Given the description of an element on the screen output the (x, y) to click on. 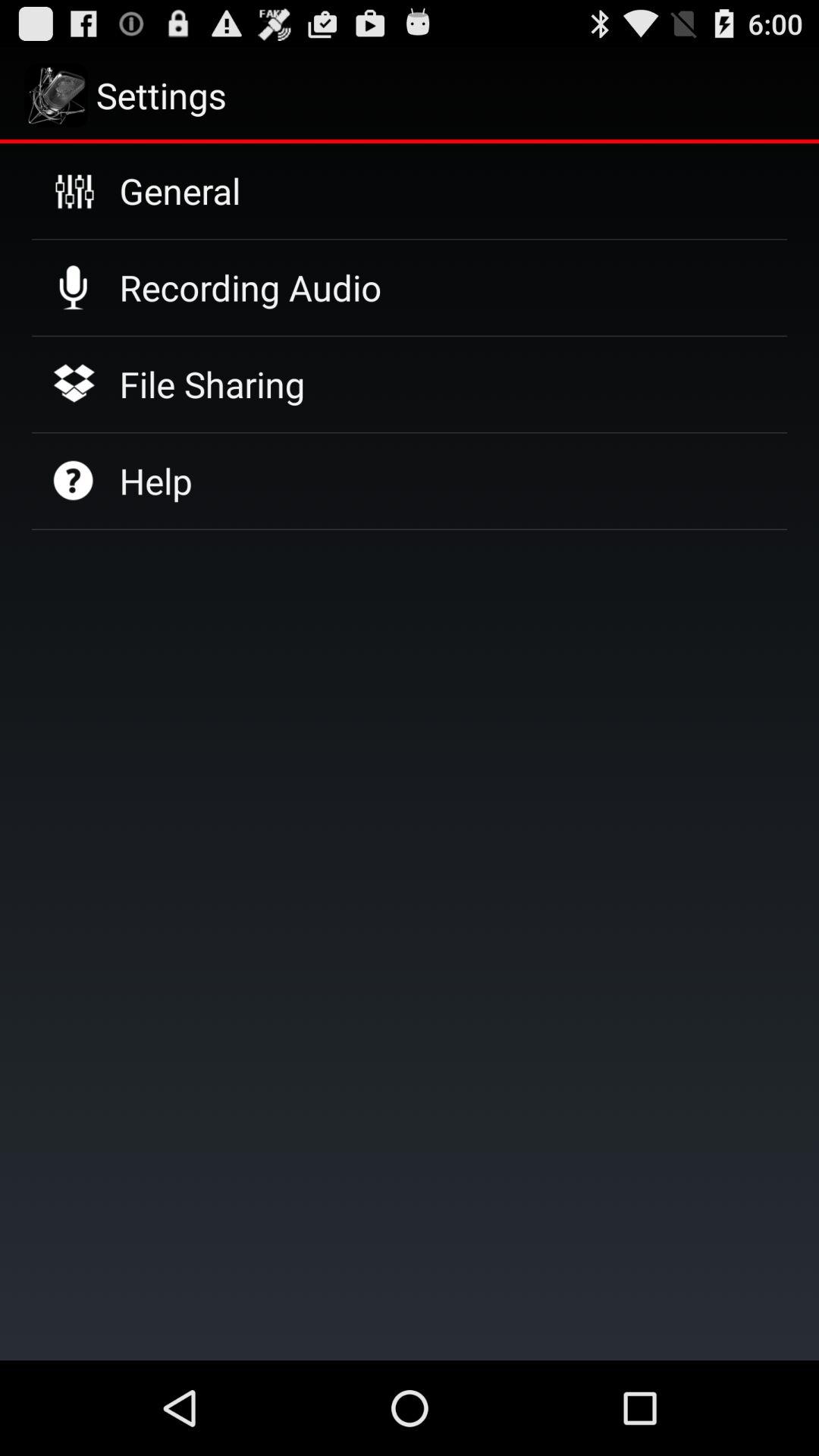
tap icon above help icon (211, 384)
